Given the description of an element on the screen output the (x, y) to click on. 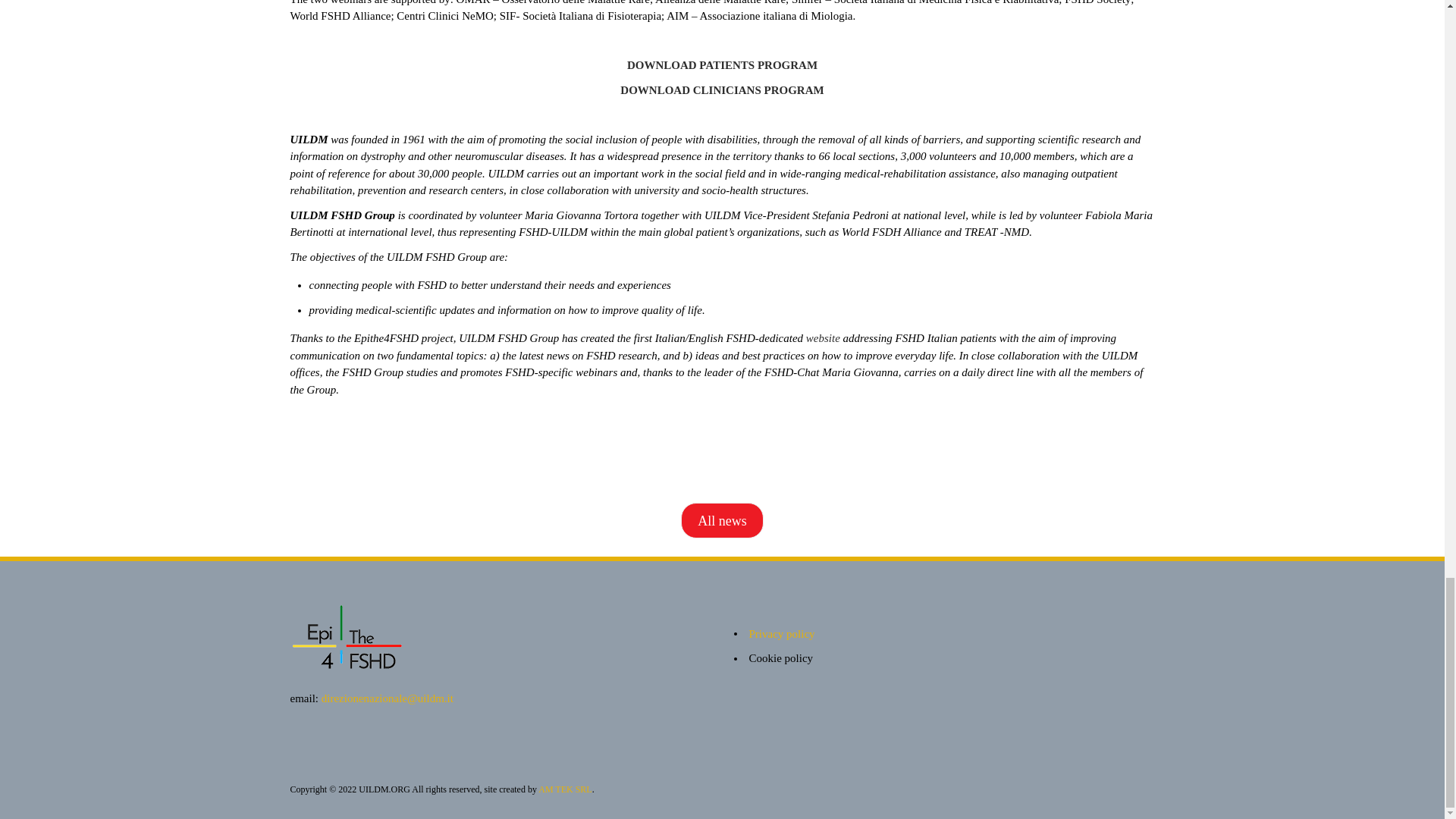
epithe4fshd.org (499, 636)
Privacy policy (782, 633)
AM TEK SRL (564, 788)
website (823, 337)
DOWNLOAD PATIENTS PROGRAM (721, 64)
All news (722, 520)
DOWNLOAD CLINICIANS PROGRAM (722, 90)
